Given the description of an element on the screen output the (x, y) to click on. 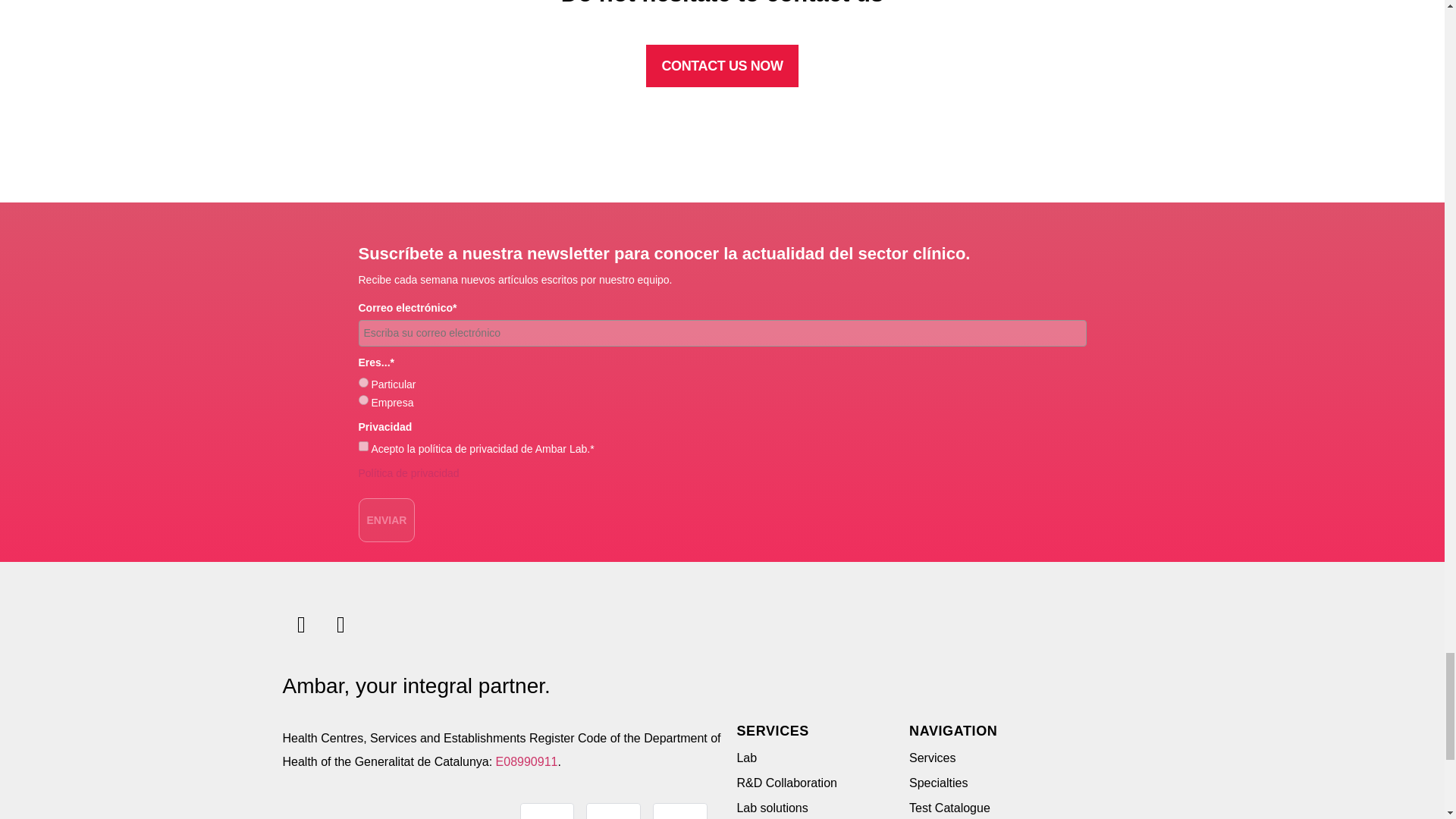
Particular (363, 382)
Empresa (363, 399)
